Given the description of an element on the screen output the (x, y) to click on. 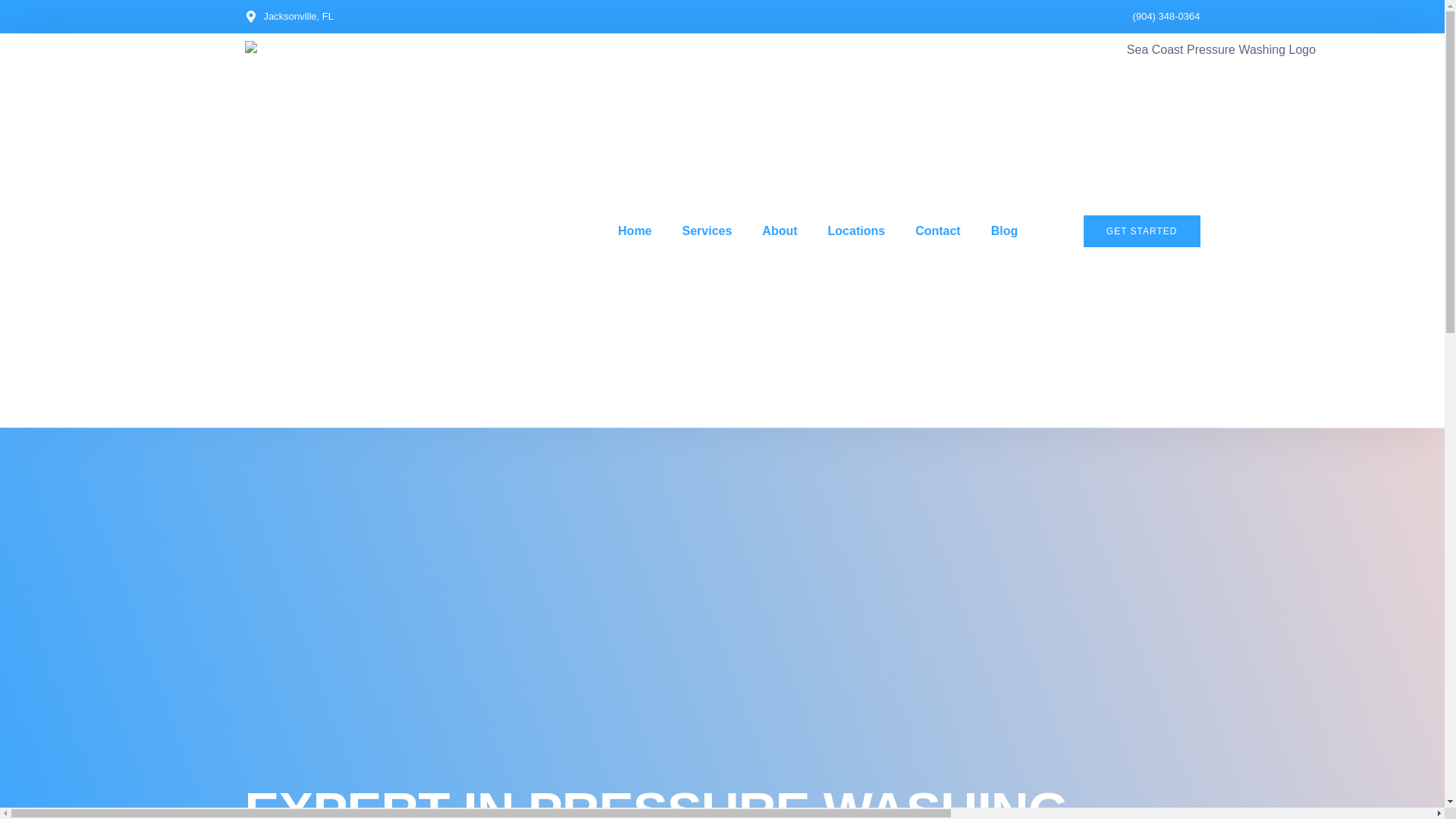
Home (634, 231)
Blog (1004, 231)
Contact (937, 231)
About (779, 231)
Services (707, 231)
GET STARTED (1141, 231)
Locations (856, 231)
